Given the description of an element on the screen output the (x, y) to click on. 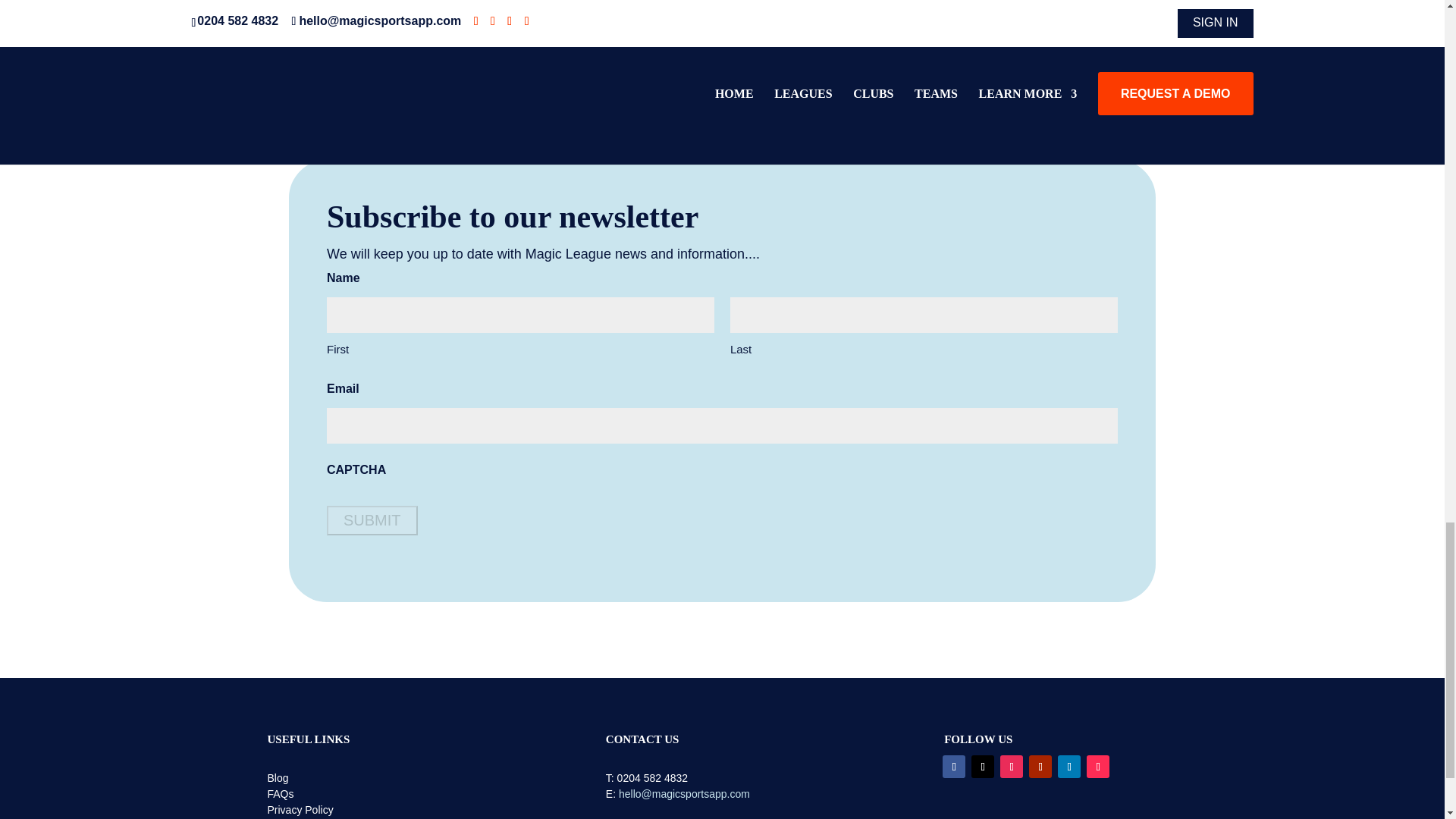
Follow on Facebook (953, 766)
FAQs (280, 793)
Follow on Youtube (1040, 766)
Blog (277, 777)
Submit (371, 520)
Follow on LinkedIn (1069, 766)
Submit (371, 520)
Follow on X (982, 766)
Follow on TikTok (1097, 766)
Follow on Instagram (1011, 766)
Privacy Policy (299, 809)
